Given the description of an element on the screen output the (x, y) to click on. 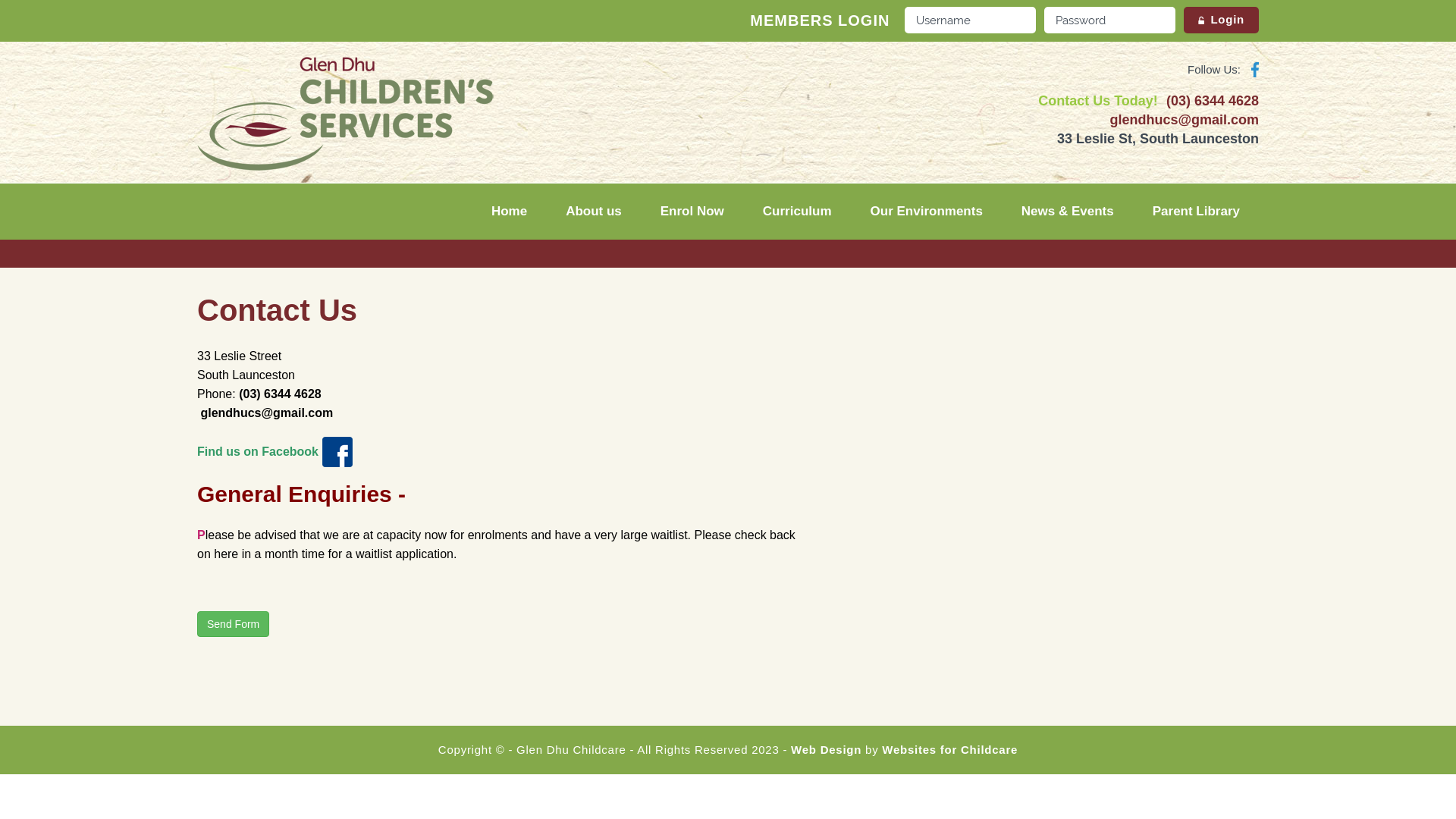
Home Element type: text (509, 211)
Parent Library Element type: text (1195, 211)
(03) 6344 4628 Element type: text (1212, 100)
 glendhucs@gmail.com Element type: text (264, 412)
Web Design Element type: text (825, 749)
glendhucs@gmail.com Element type: text (1183, 119)
Our Environments Element type: text (926, 211)
About us Element type: text (593, 211)
P Element type: text (201, 534)
Curriculum Element type: text (796, 211)
Send Form Element type: text (233, 624)
Find us on Facebook Element type: text (257, 450)
Login Element type: text (1220, 19)
News & Events Element type: text (1067, 211)
Websites for Childcare Element type: text (949, 749)
Enrol Now Element type: text (692, 211)
